Given the description of an element on the screen output the (x, y) to click on. 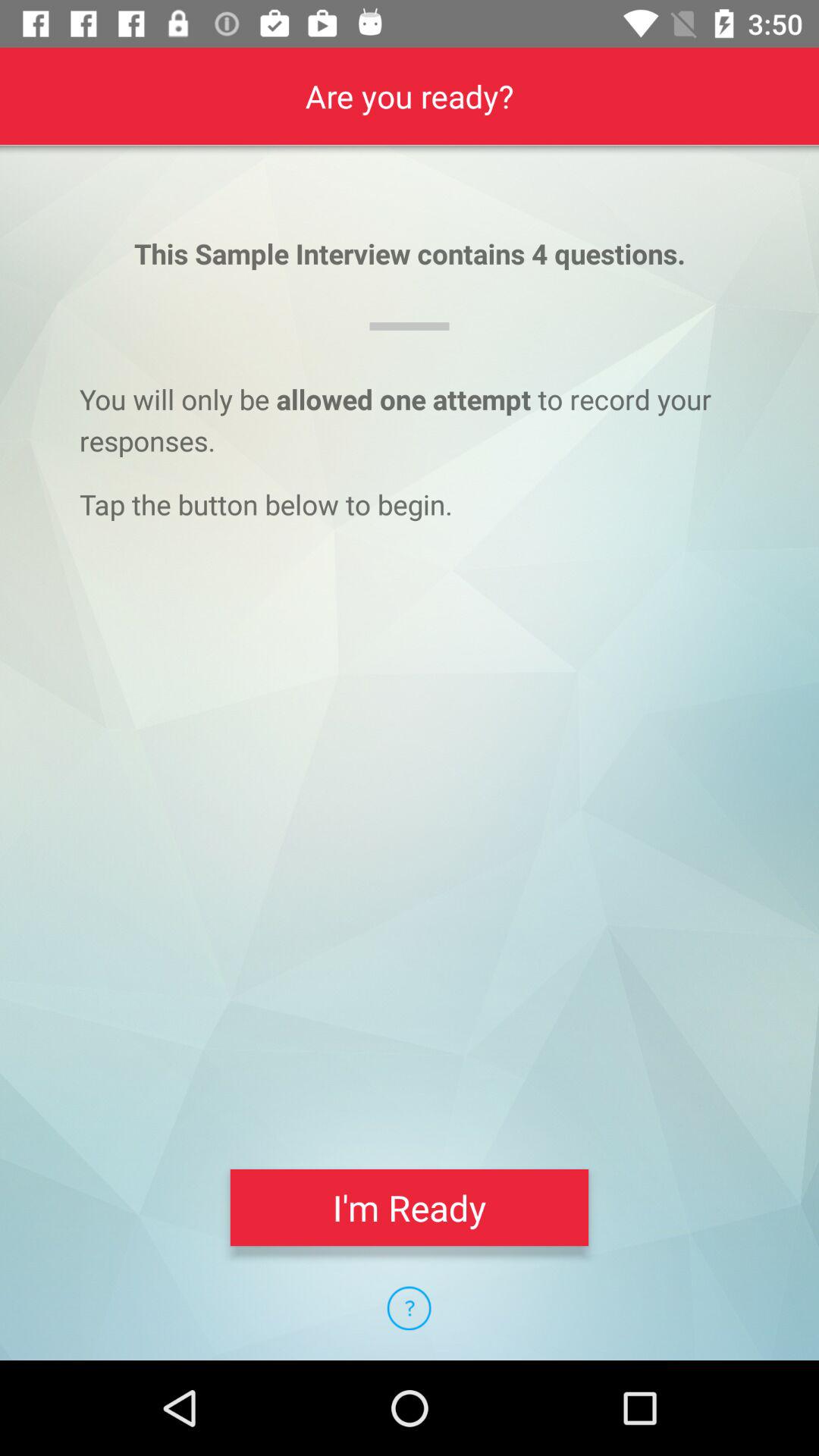
click the icon below i'm ready item (409, 1308)
